Given the description of an element on the screen output the (x, y) to click on. 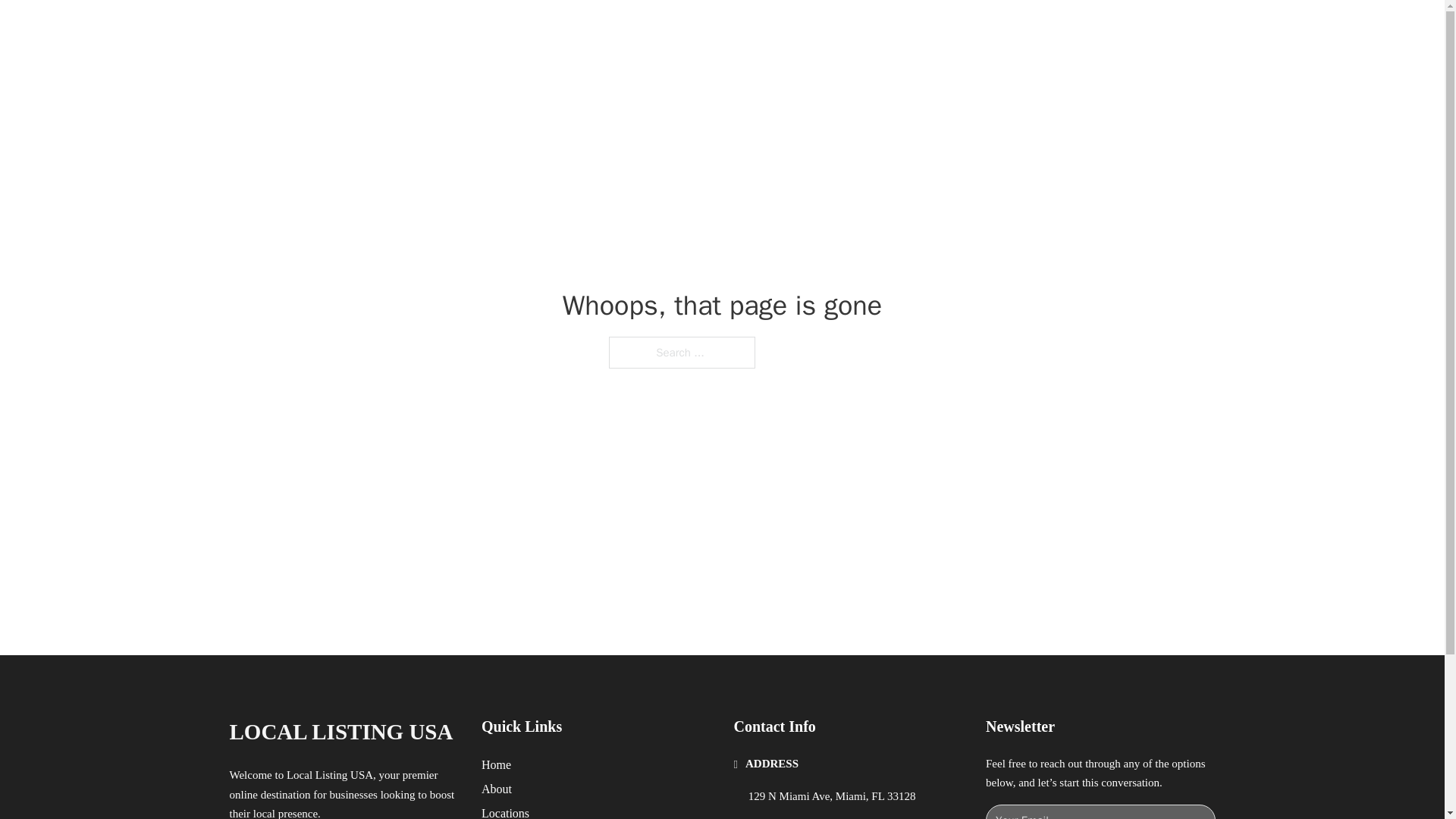
About (496, 788)
LOCAL LISTING USA (408, 28)
LOCAL LISTING USA (340, 732)
HOME (919, 29)
Locations (505, 811)
Home (496, 764)
LOCATIONS (990, 29)
